Given the description of an element on the screen output the (x, y) to click on. 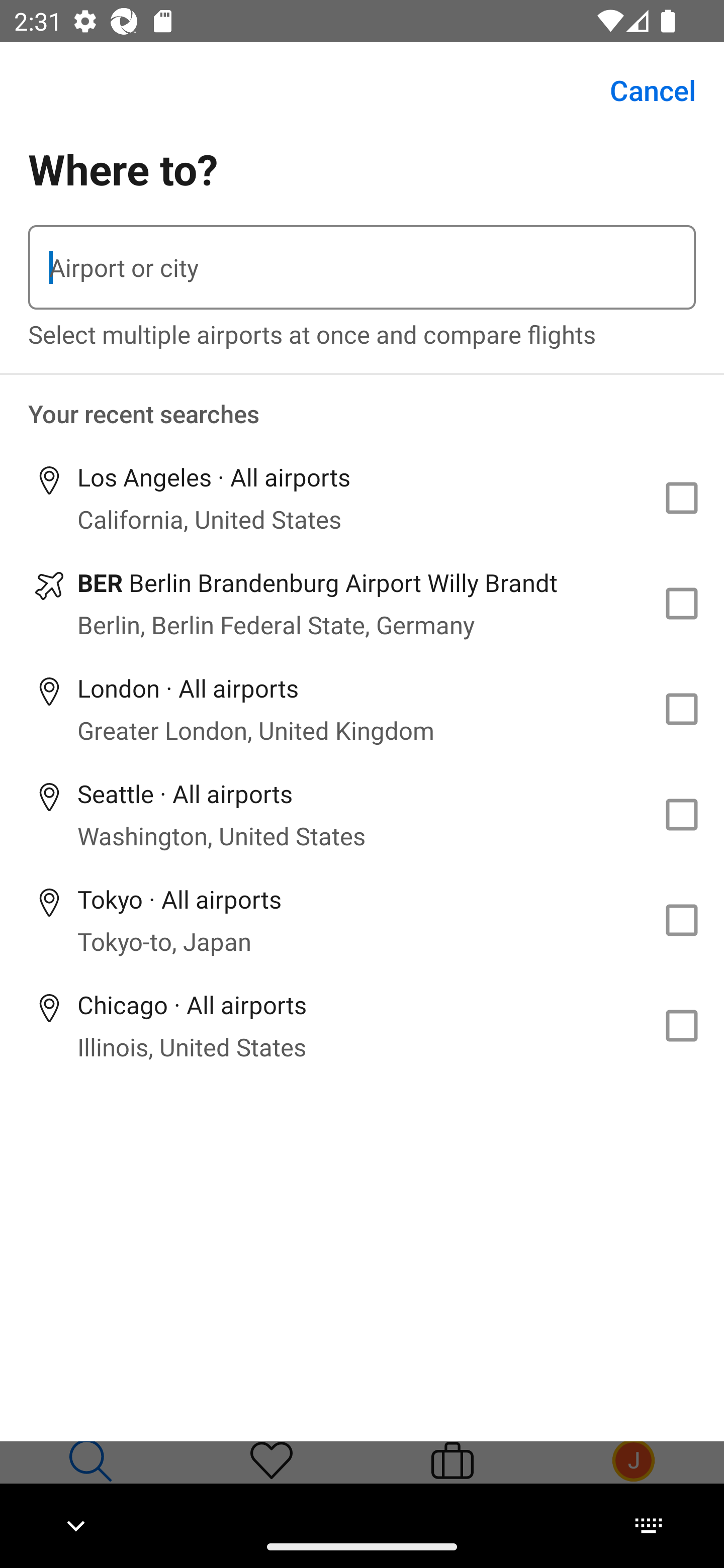
Cancel (641, 90)
Airport or city (361, 266)
Seattle · All airports Washington, United States (362, 814)
Tokyo · All airports Tokyo-to, Japan (362, 920)
Chicago · All airports Illinois, United States (362, 1025)
